Given the description of an element on the screen output the (x, y) to click on. 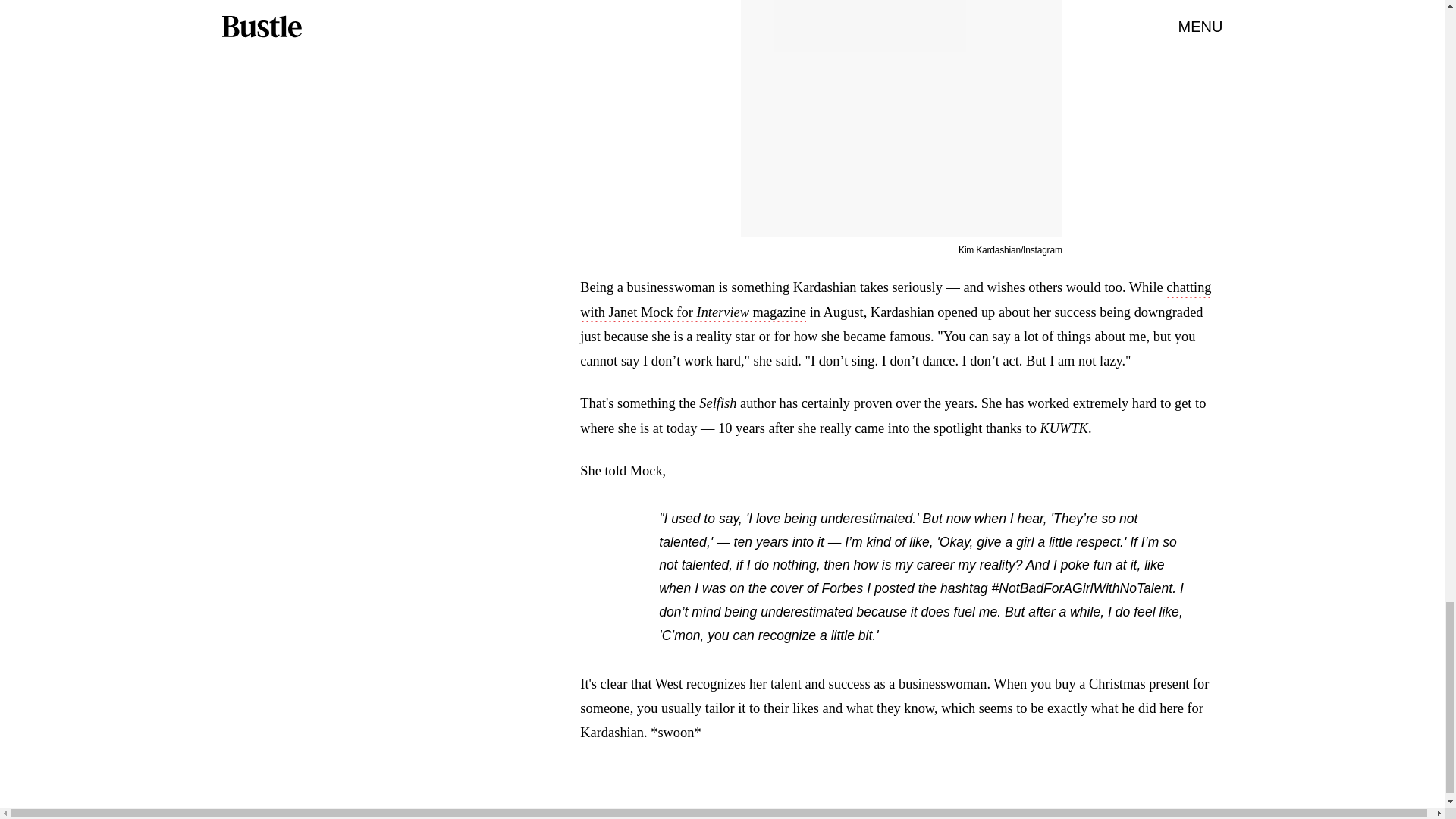
chatting with Janet Mock for Interview magazine (895, 301)
